Given the description of an element on the screen output the (x, y) to click on. 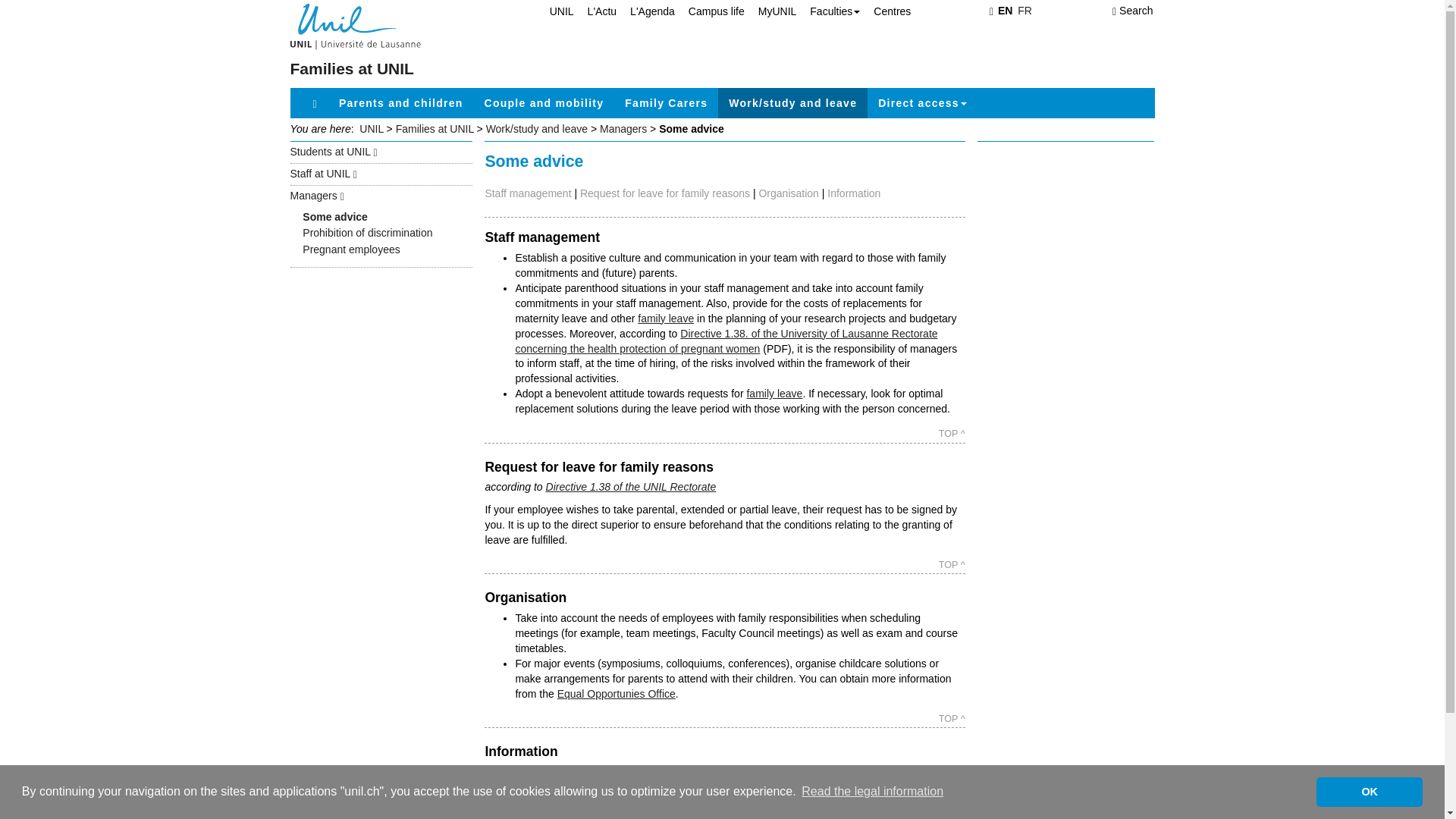
L'Agenda (645, 10)
Families at UNIL (351, 67)
Faculties (828, 10)
FR (1024, 10)
Campus life (709, 10)
OK (1369, 791)
UNIL (554, 10)
MyUNIL (770, 10)
Centres (885, 10)
L'Actu (594, 10)
Couple and mobility (544, 102)
Family Carers (665, 102)
Parents and children (401, 102)
Read the legal information (871, 791)
